Given the description of an element on the screen output the (x, y) to click on. 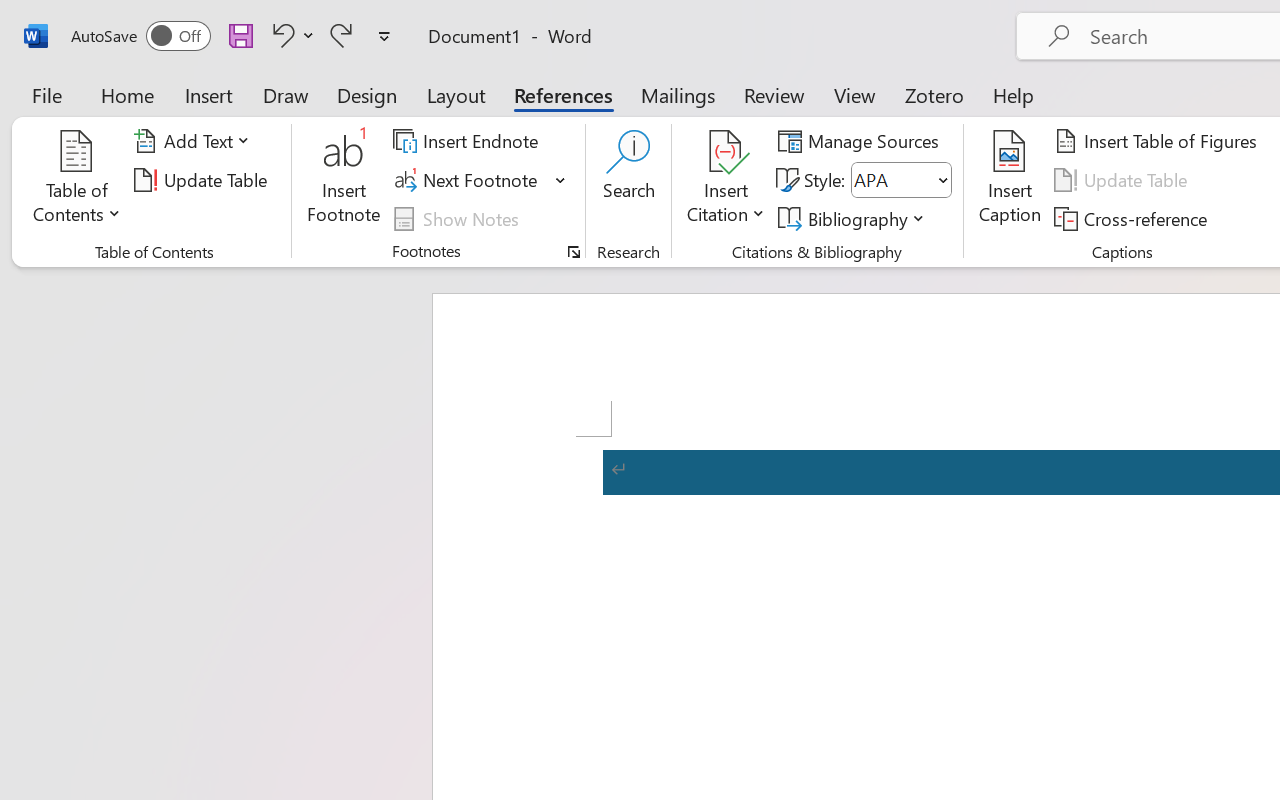
Update Table (1124, 179)
Insert Footnote (344, 179)
Insert Endnote (468, 141)
Table of Contents (77, 179)
Show Notes (459, 218)
Manage Sources... (861, 141)
Insert Citation (726, 179)
